Given the description of an element on the screen output the (x, y) to click on. 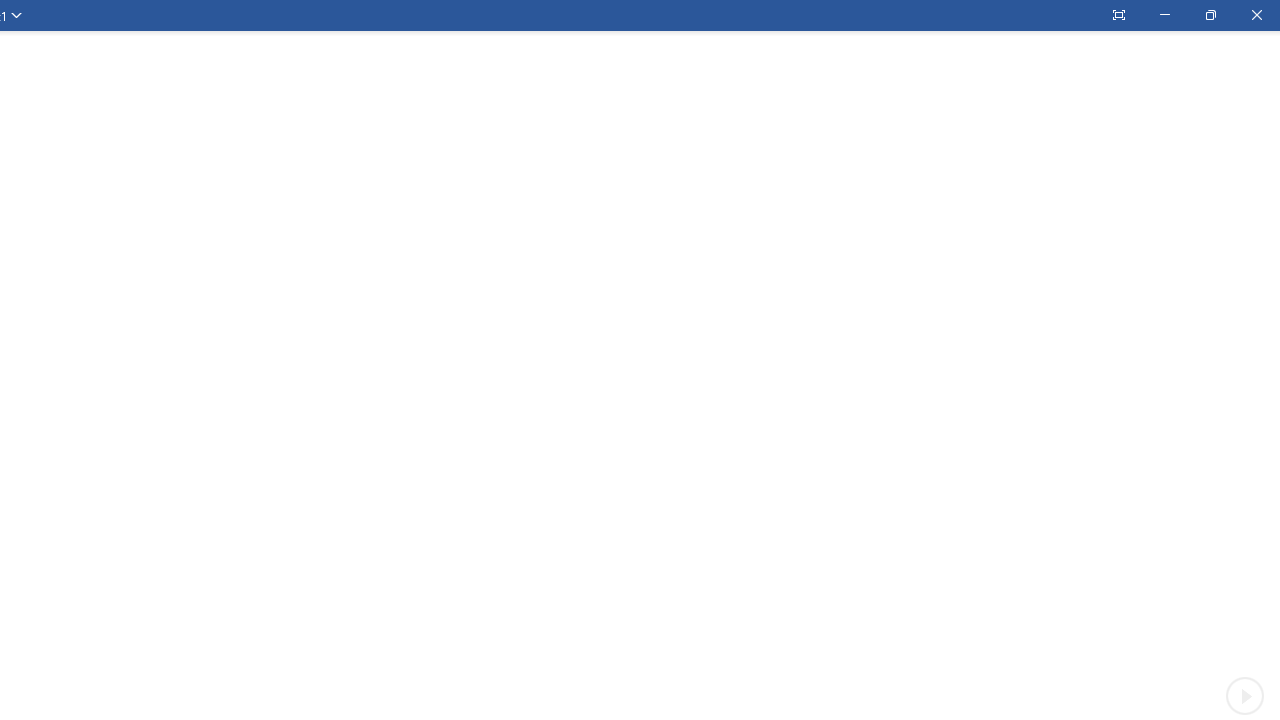
Auto-hide Reading Toolbar (1118, 15)
